Given the description of an element on the screen output the (x, y) to click on. 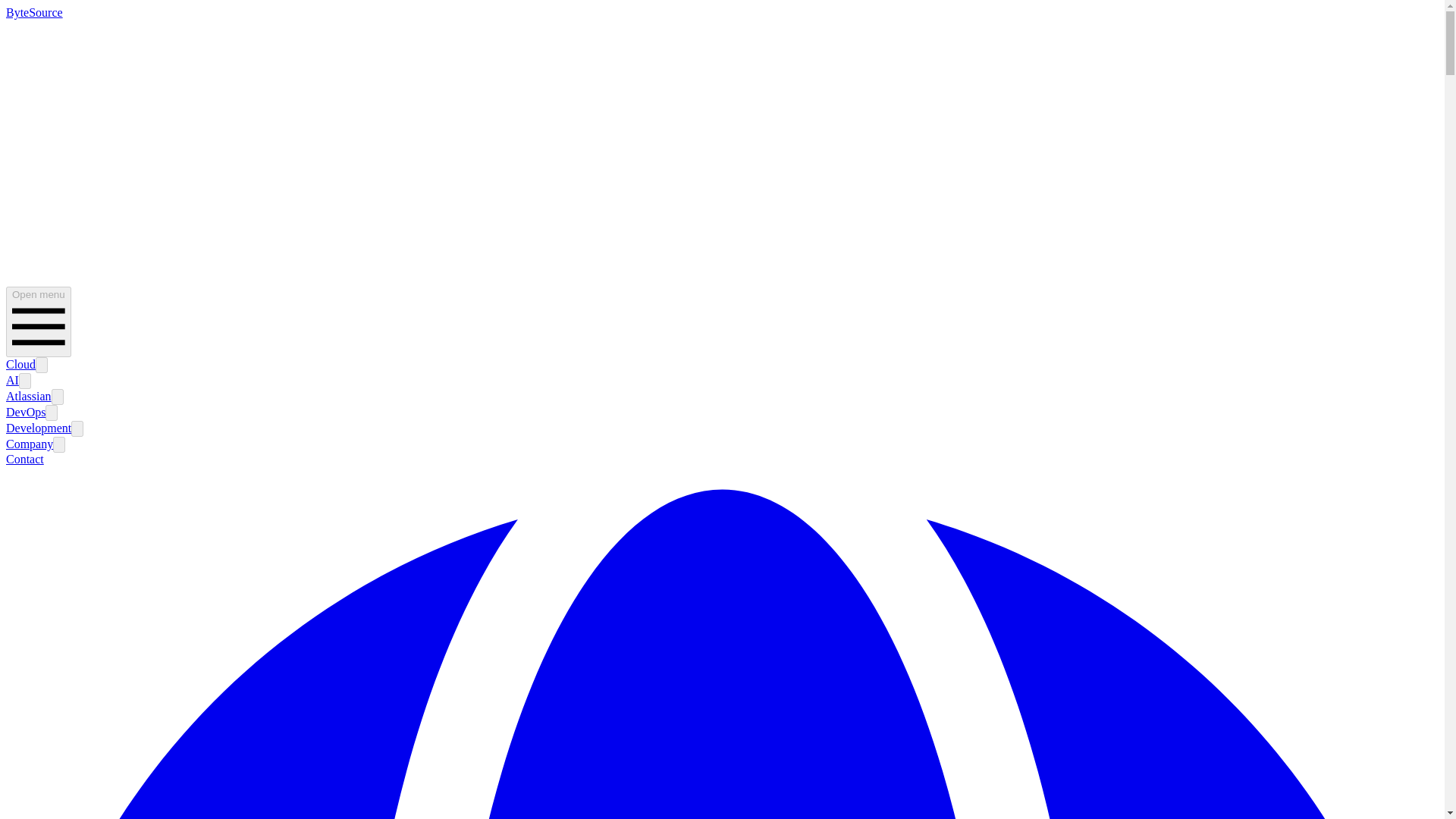
Company (28, 443)
Contact (24, 459)
Menu (38, 326)
AI (11, 379)
Open menuMenu (38, 321)
Atlassian (27, 395)
Cloud (19, 364)
Development (38, 427)
DevOps (25, 411)
